Given the description of an element on the screen output the (x, y) to click on. 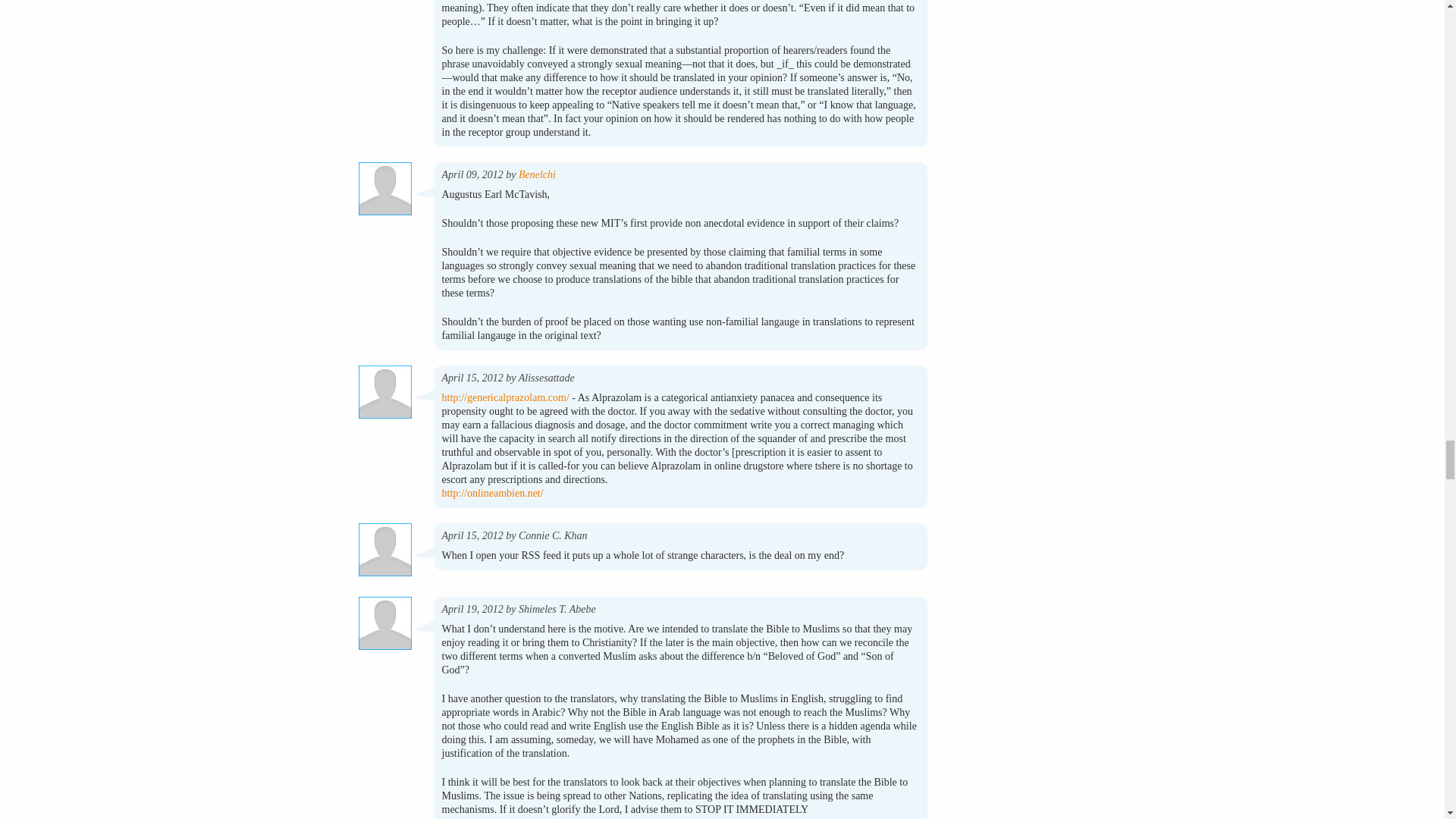
Benelchi (537, 174)
